Given the description of an element on the screen output the (x, y) to click on. 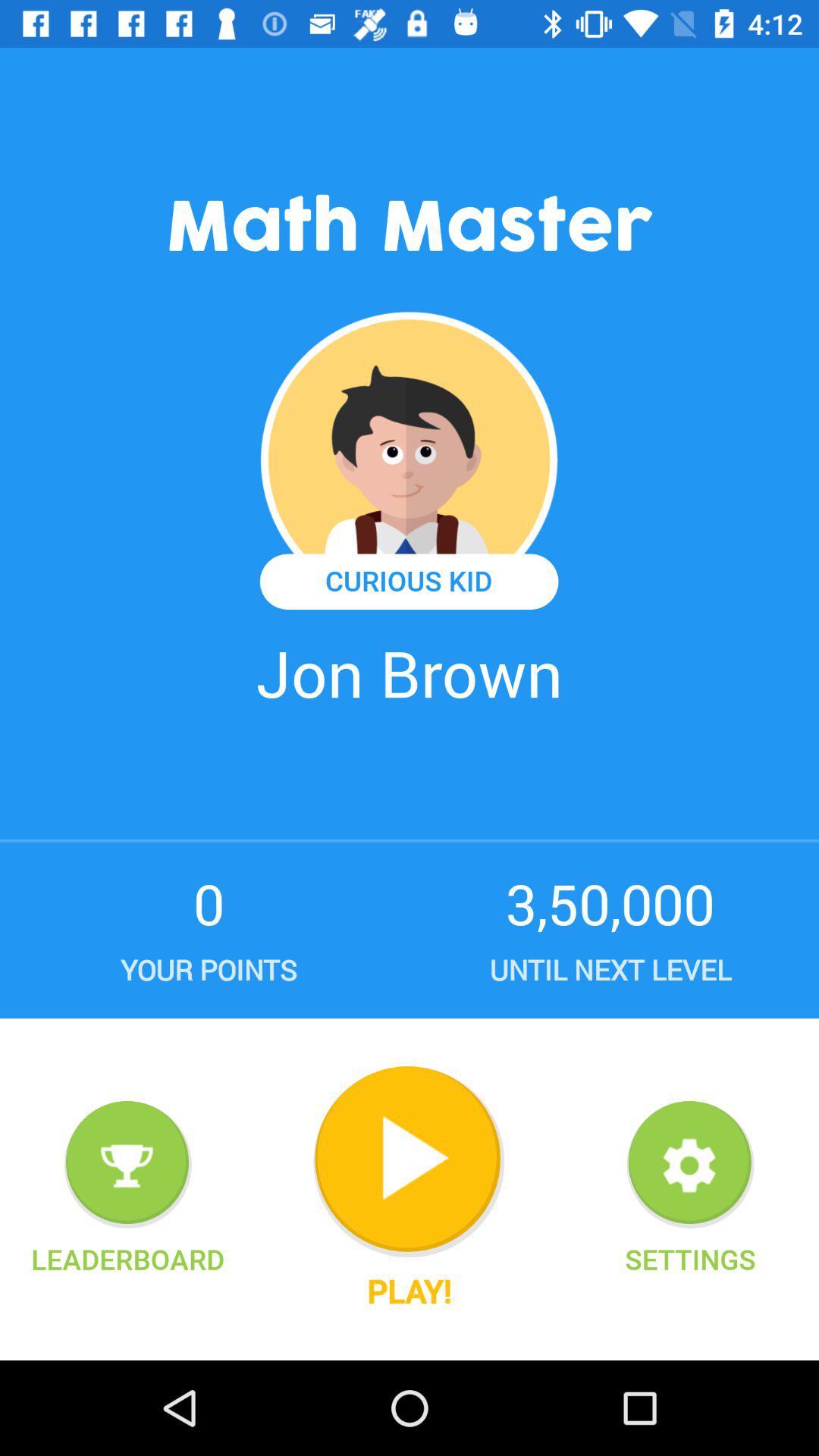
flip to the settings icon (690, 1258)
